Given the description of an element on the screen output the (x, y) to click on. 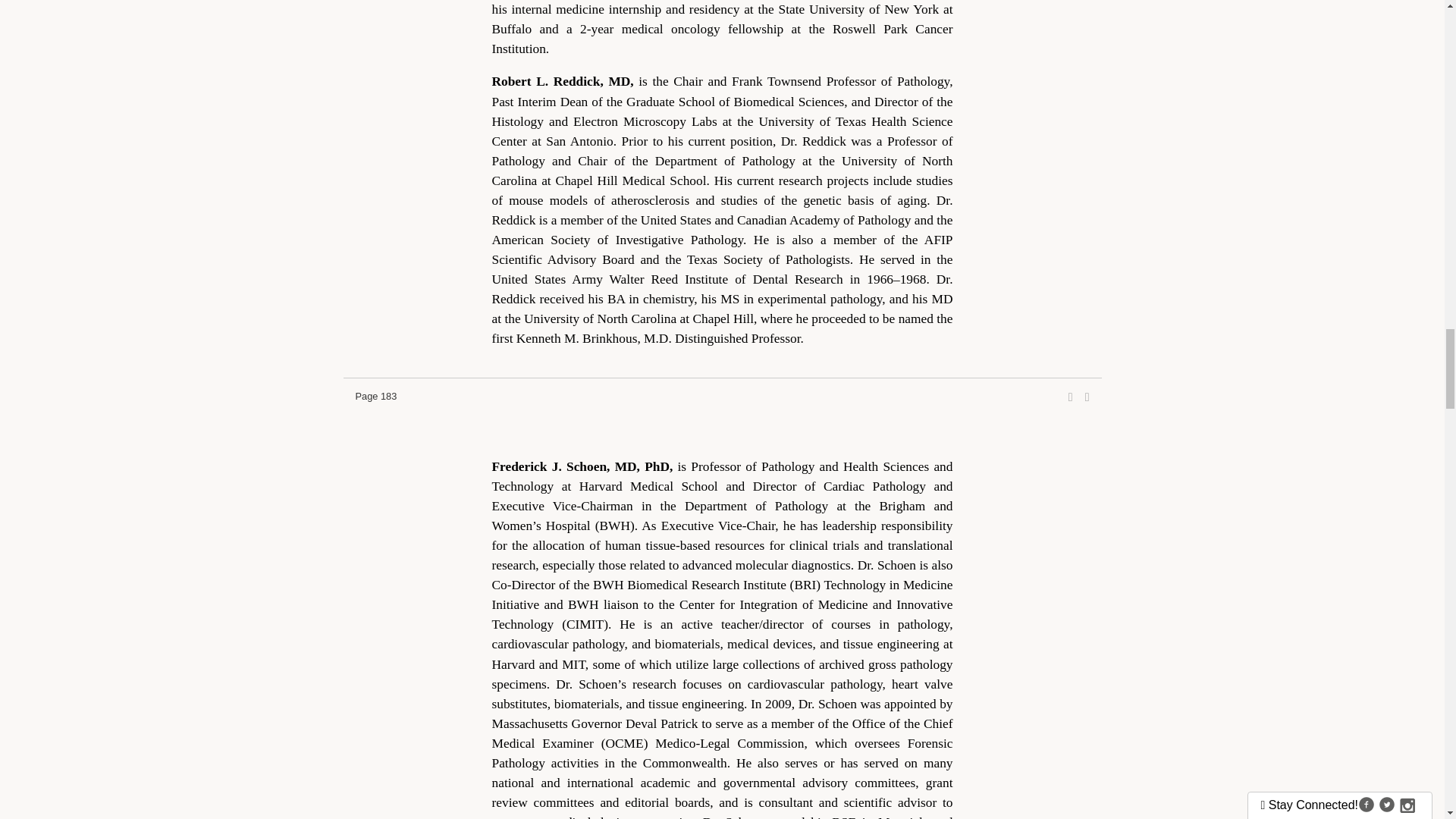
Cite this page (1086, 397)
Share this page (1070, 397)
